Given the description of an element on the screen output the (x, y) to click on. 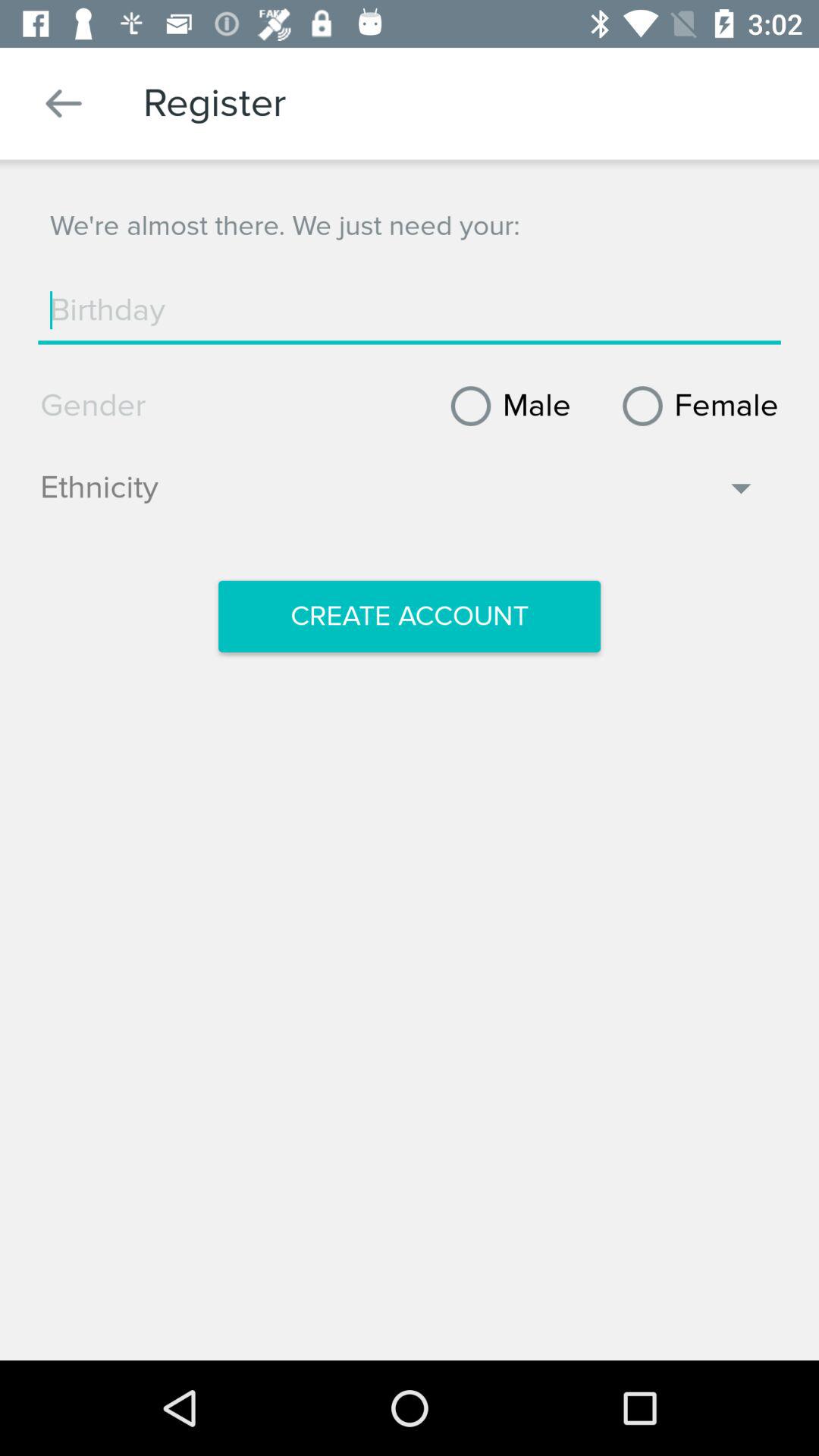
open create account icon (409, 616)
